Given the description of an element on the screen output the (x, y) to click on. 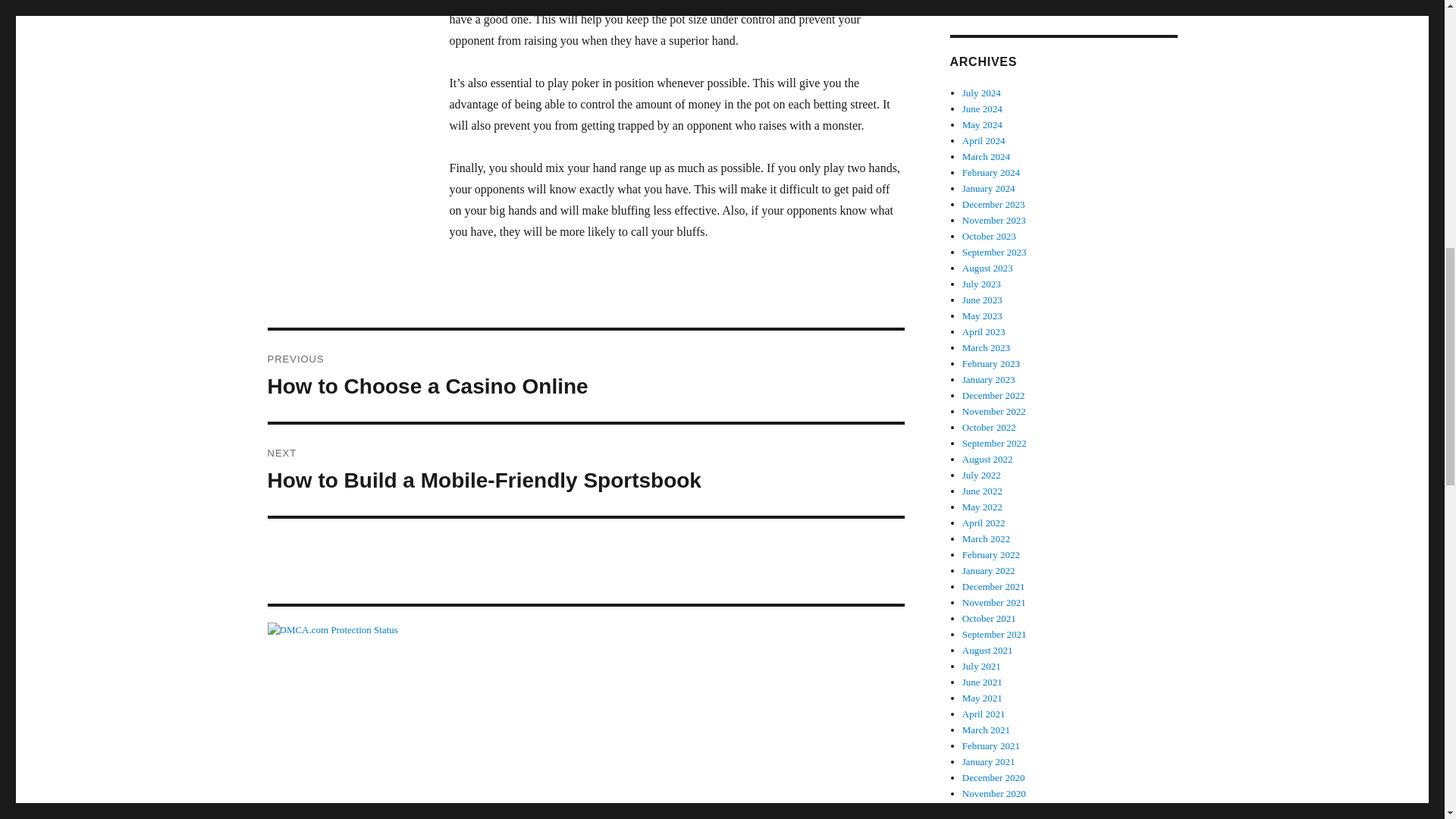
May 2024 (982, 124)
January 2024 (988, 188)
June 2024 (982, 108)
September 2023 (585, 470)
October 2023 (994, 251)
July 2024 (585, 375)
February 2024 (989, 235)
December 2023 (981, 92)
DMCA.com Protection Status (991, 172)
March 2024 (993, 204)
April 2024 (585, 630)
November 2023 (986, 156)
